Given the description of an element on the screen output the (x, y) to click on. 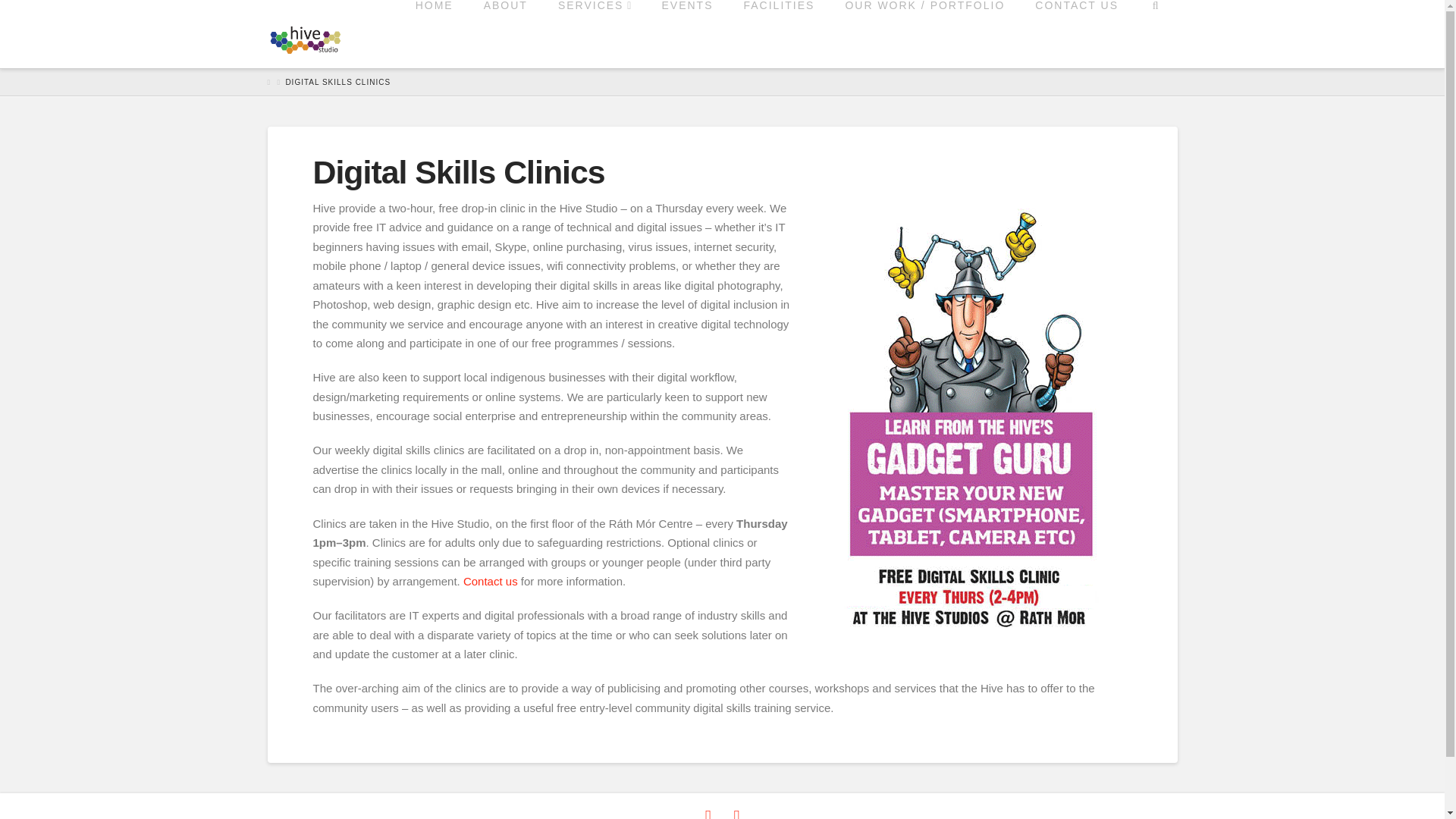
SERVICES (594, 33)
Enquiry (490, 581)
EVENTS (687, 33)
Contact us (490, 581)
HOME (434, 33)
ABOUT (505, 33)
FACILITIES (778, 33)
CONTACT US (1077, 33)
Digital Creativity in the Community (304, 36)
